Given the description of an element on the screen output the (x, y) to click on. 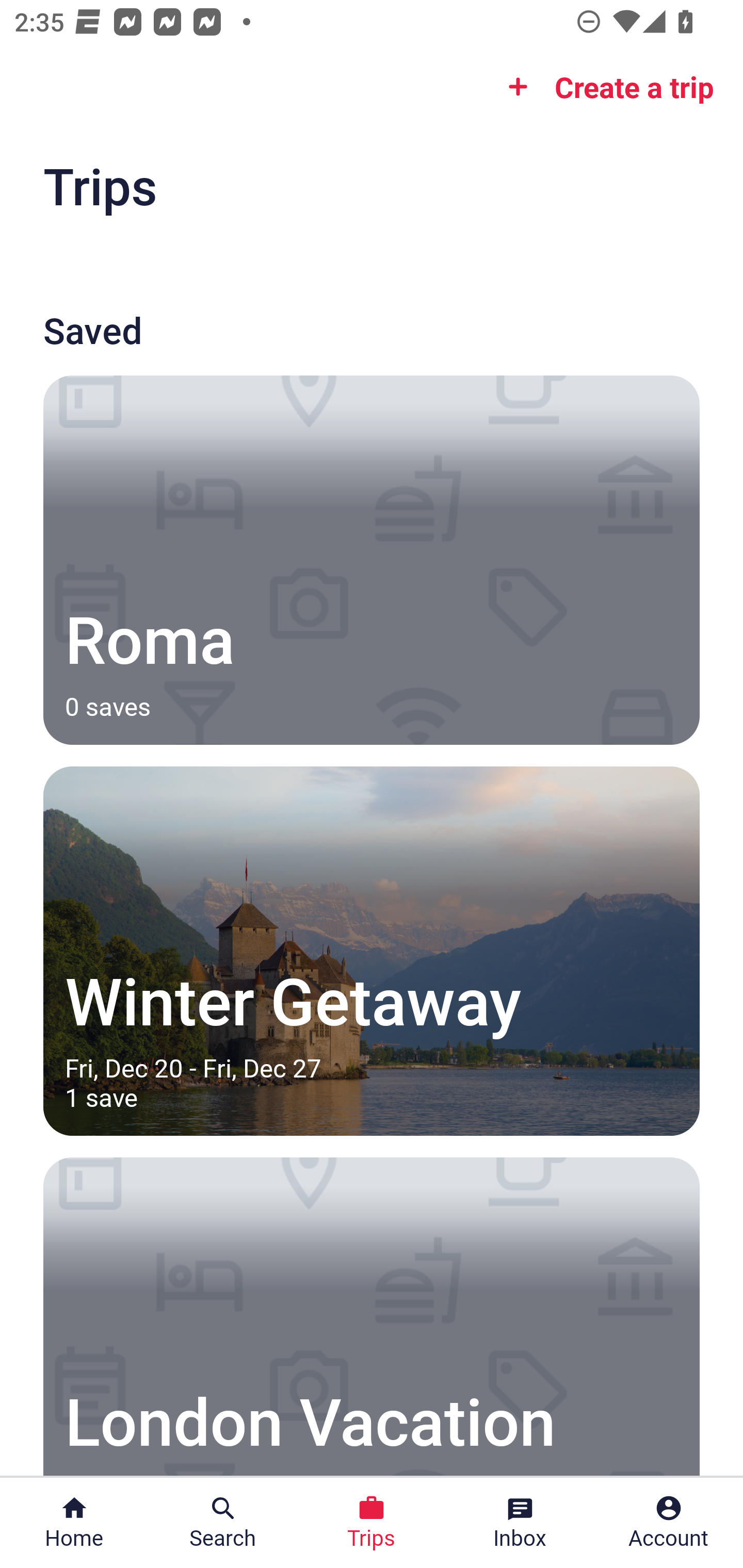
Create a trip Create a trip Button (605, 86)
Roma. 0 saves.  Button Roma 0 saves (371, 559)
Home Home Button (74, 1522)
Search Search Button (222, 1522)
Inbox Inbox Button (519, 1522)
Account Profile. Button (668, 1522)
